Given the description of an element on the screen output the (x, y) to click on. 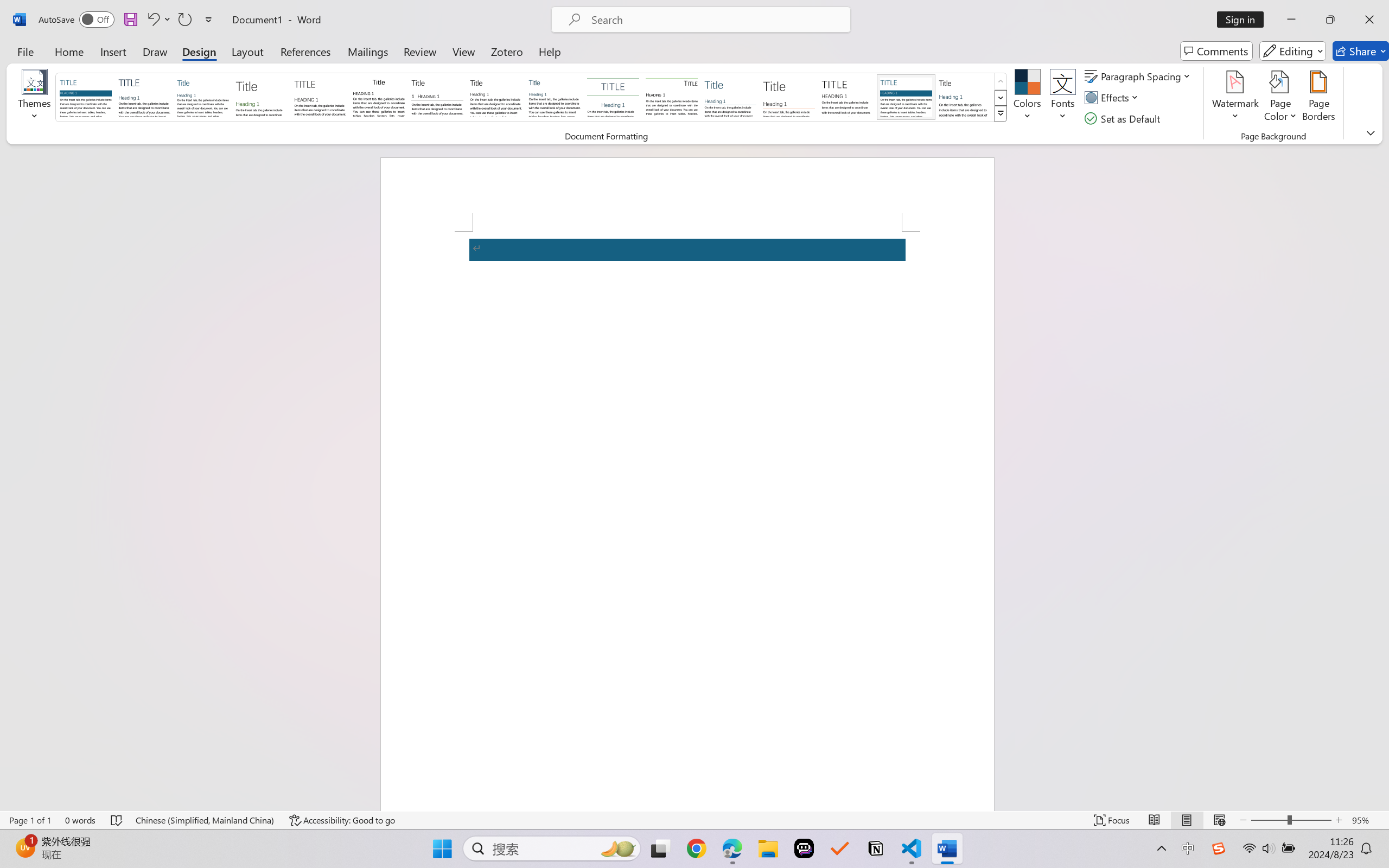
Centered (612, 96)
Effects (1113, 97)
Word (964, 96)
Undo Apply Quick Style Set (158, 19)
AutomationID: QuickStylesSets (531, 97)
Document (85, 96)
Lines (Stylish) (788, 96)
Page Color (1280, 97)
Basic (Simple) (202, 96)
